Given the description of an element on the screen output the (x, y) to click on. 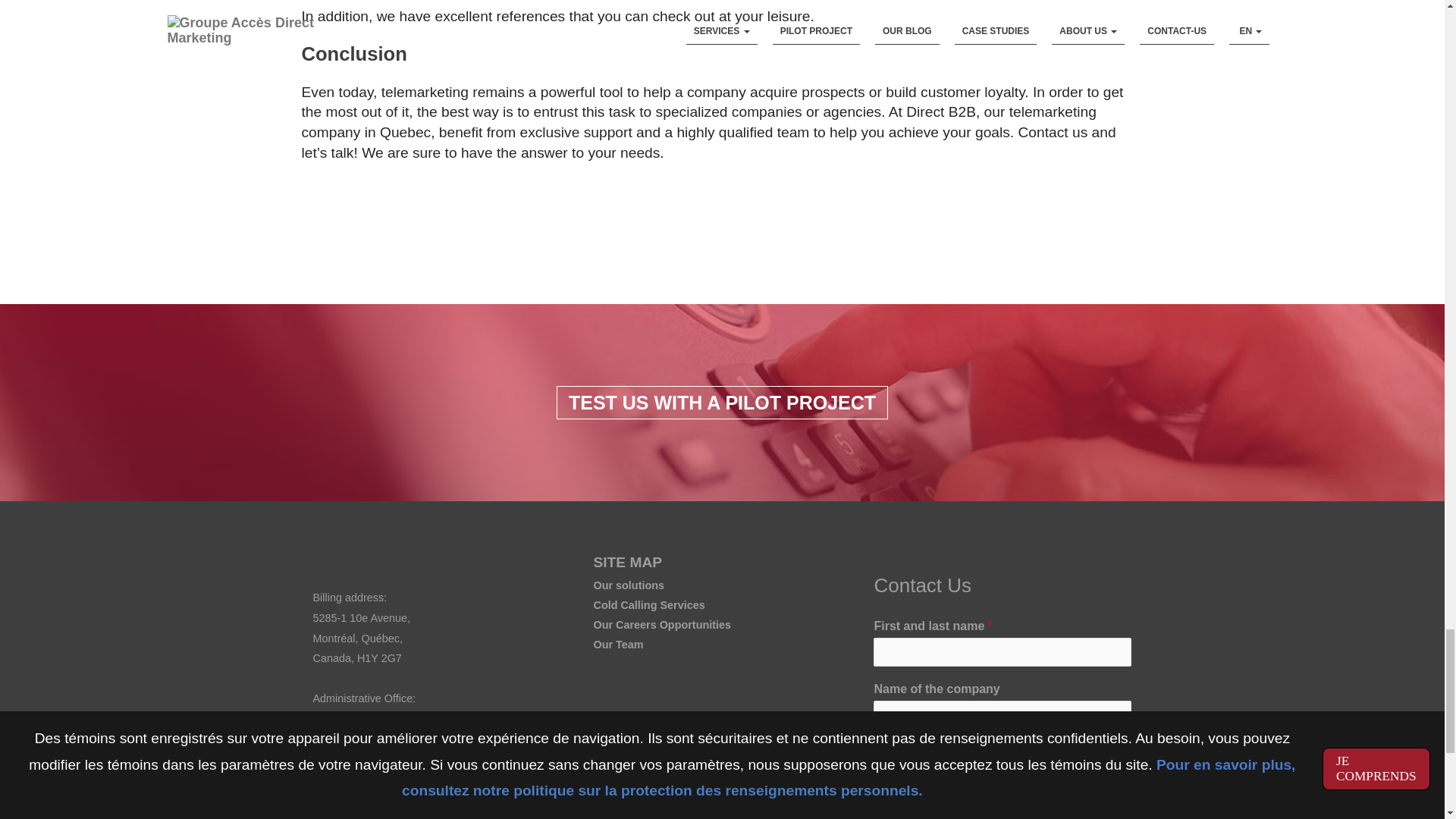
Our Careers Opportunities (661, 624)
TEST US WITH A PILOT PROJECT (722, 402)
Our solutions (627, 585)
Our Team (617, 644)
Cold Calling Services (648, 604)
